Given the description of an element on the screen output the (x, y) to click on. 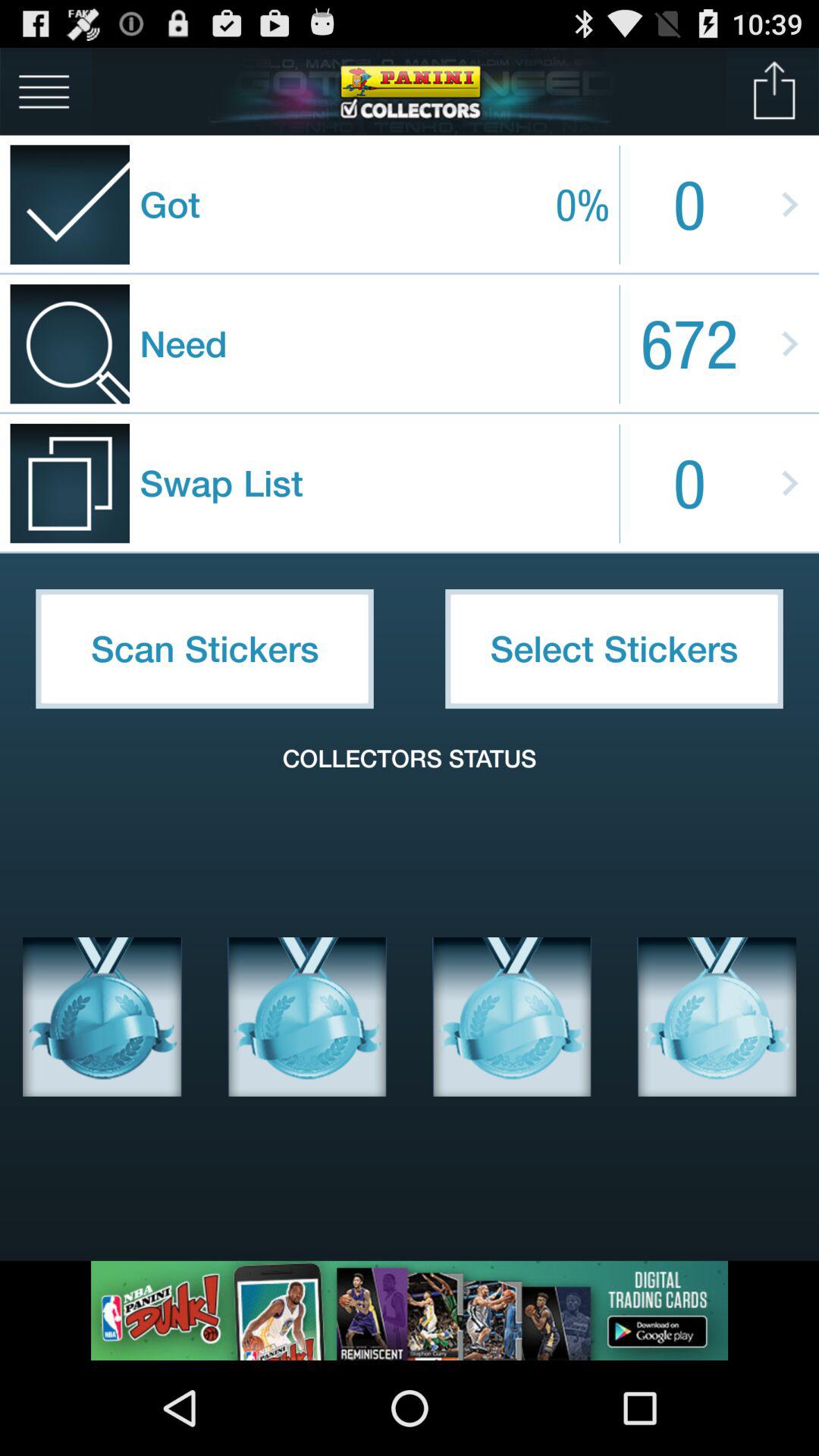
click the item above the collectors status icon (614, 648)
